Given the description of an element on the screen output the (x, y) to click on. 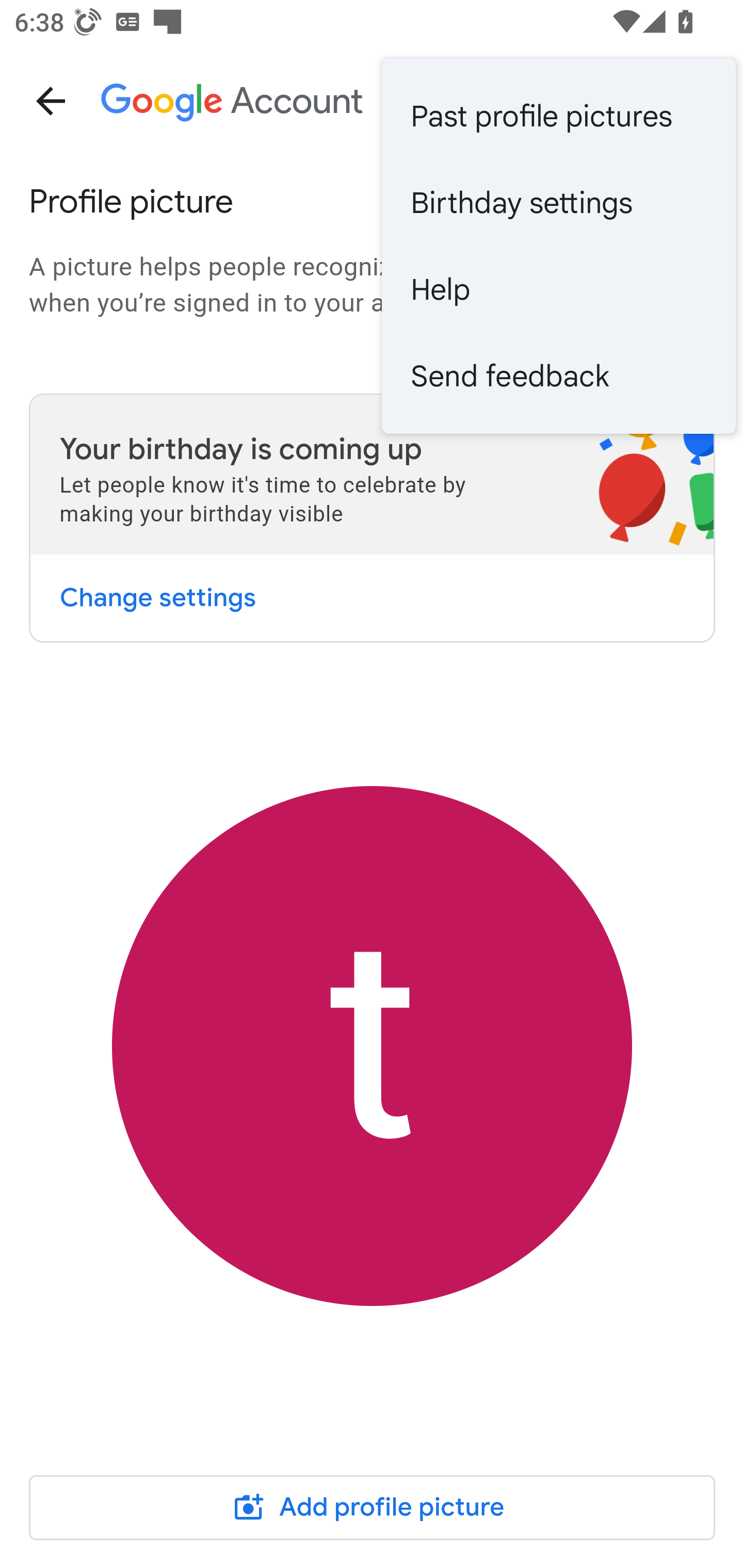
Past profile pictures (558, 115)
Birthday settings (558, 202)
Help (558, 289)
Send feedback (558, 375)
